Given the description of an element on the screen output the (x, y) to click on. 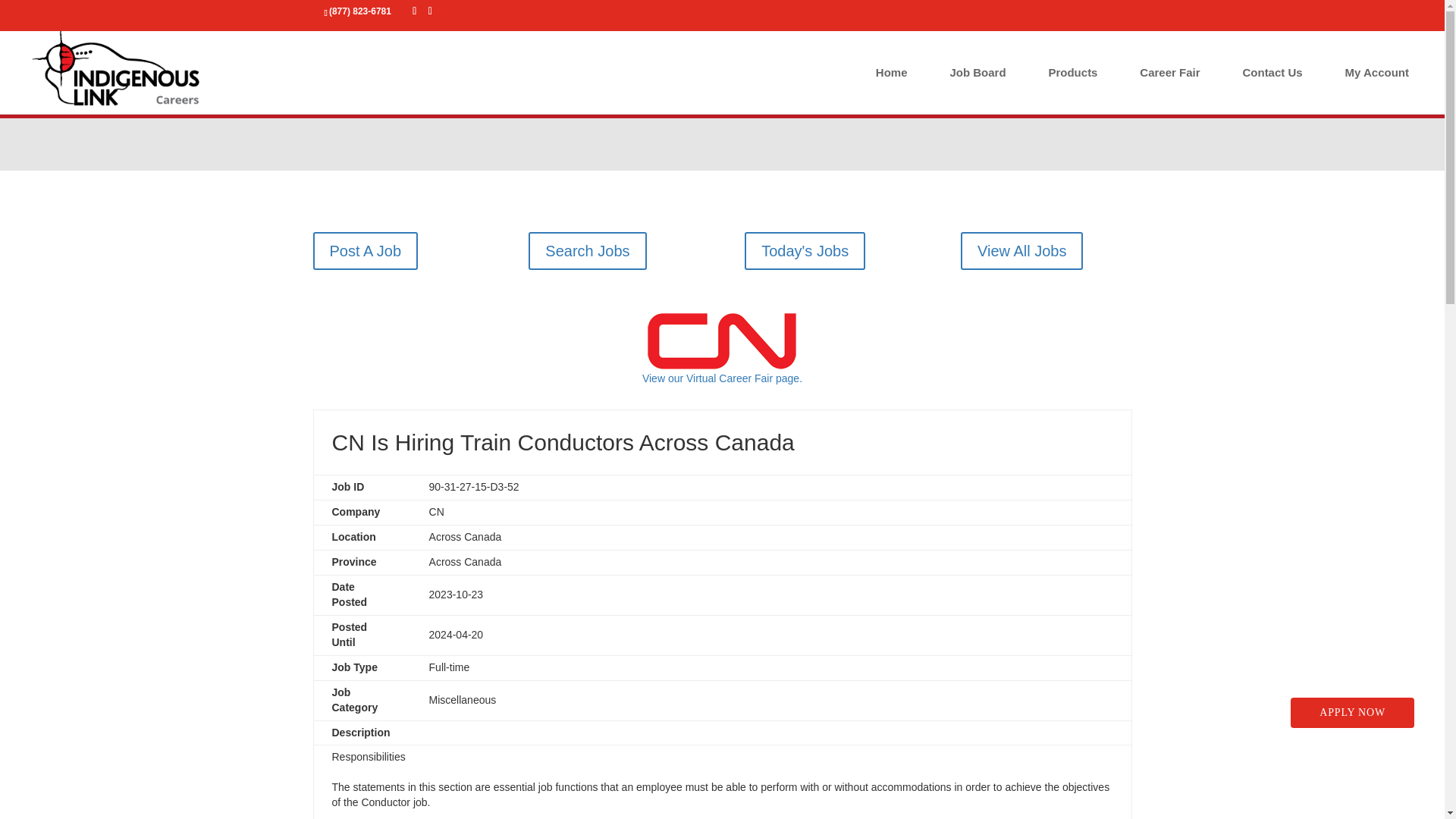
Post A Job (365, 250)
APPLY NOW (1351, 712)
Today's Jobs (804, 250)
Products (1072, 86)
View All Jobs (1021, 250)
Search Jobs (587, 250)
View our Virtual Career Fair page. (722, 359)
Contact Us (1271, 86)
My Account (1377, 86)
Career Fair (1169, 86)
Job Board (976, 86)
Home (891, 86)
